Given the description of an element on the screen output the (x, y) to click on. 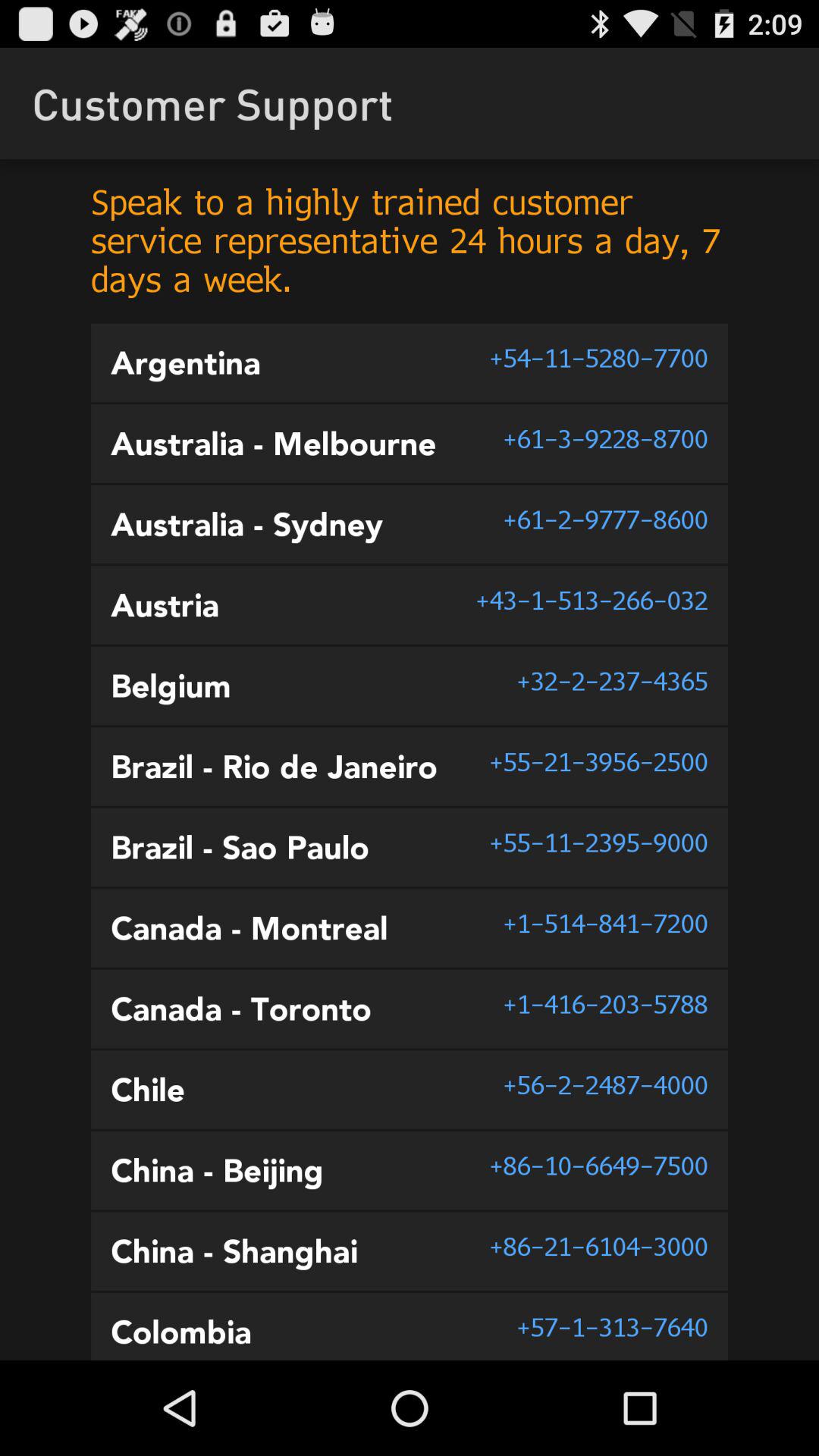
launch icon next to china - beijing (598, 1165)
